Given the description of an element on the screen output the (x, y) to click on. 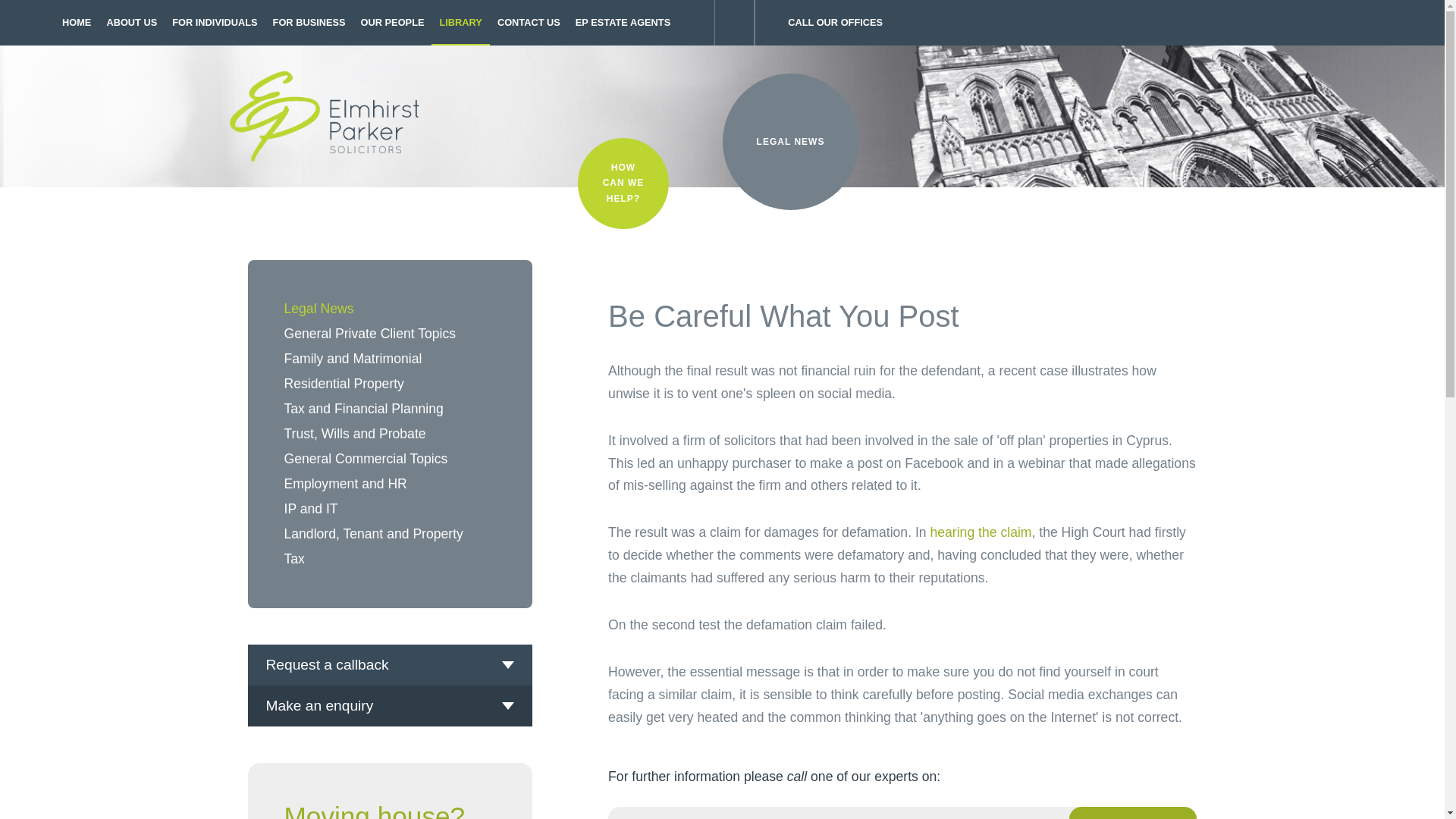
FOR BUSINESS (308, 22)
LIBRARY (459, 22)
OUR PEOPLE (392, 22)
HOME (77, 22)
ABOUT US (131, 22)
FOR INDIVIDUALS (214, 22)
